Given the description of an element on the screen output the (x, y) to click on. 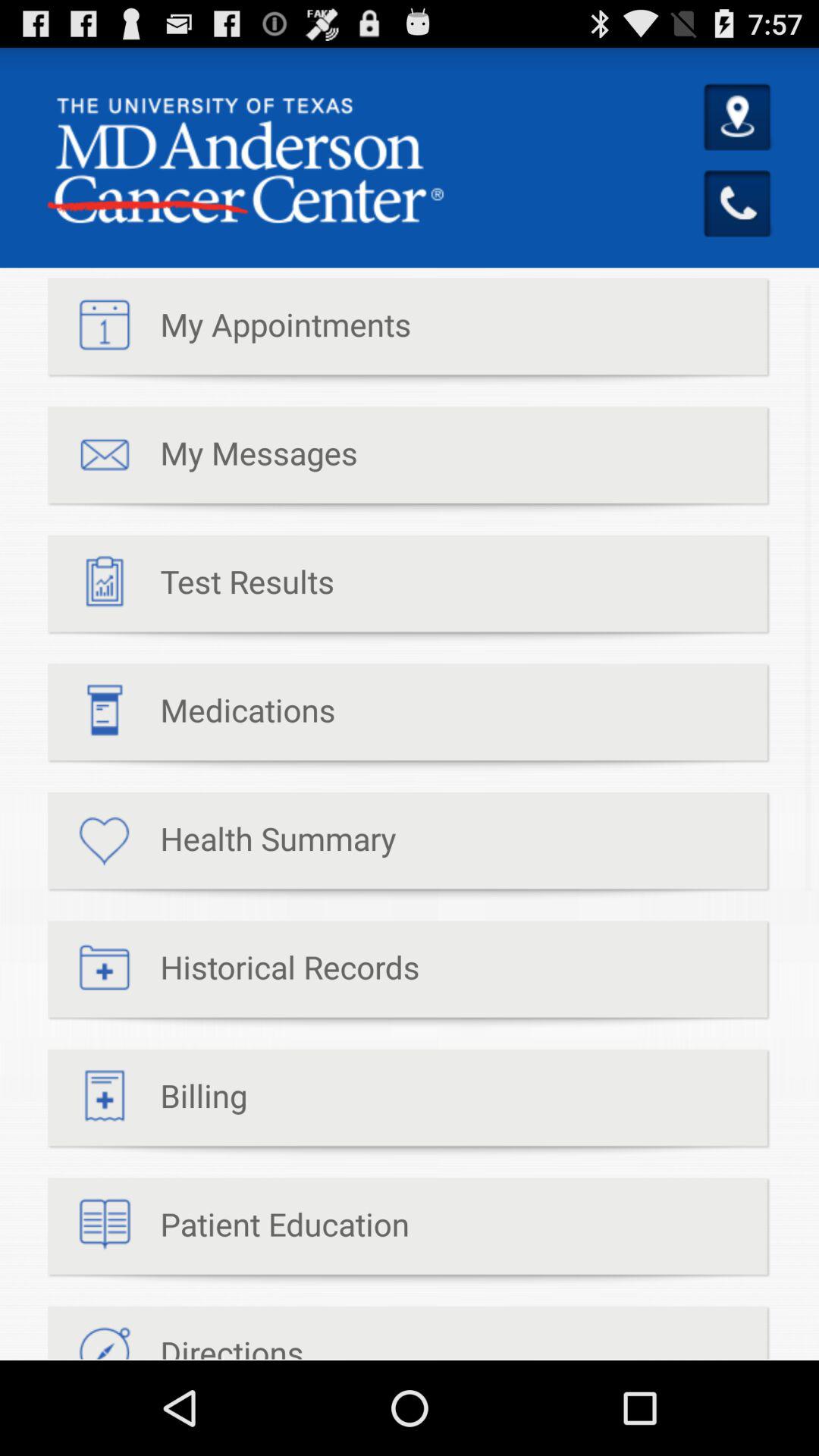
swipe to health summary (221, 846)
